Given the description of an element on the screen output the (x, y) to click on. 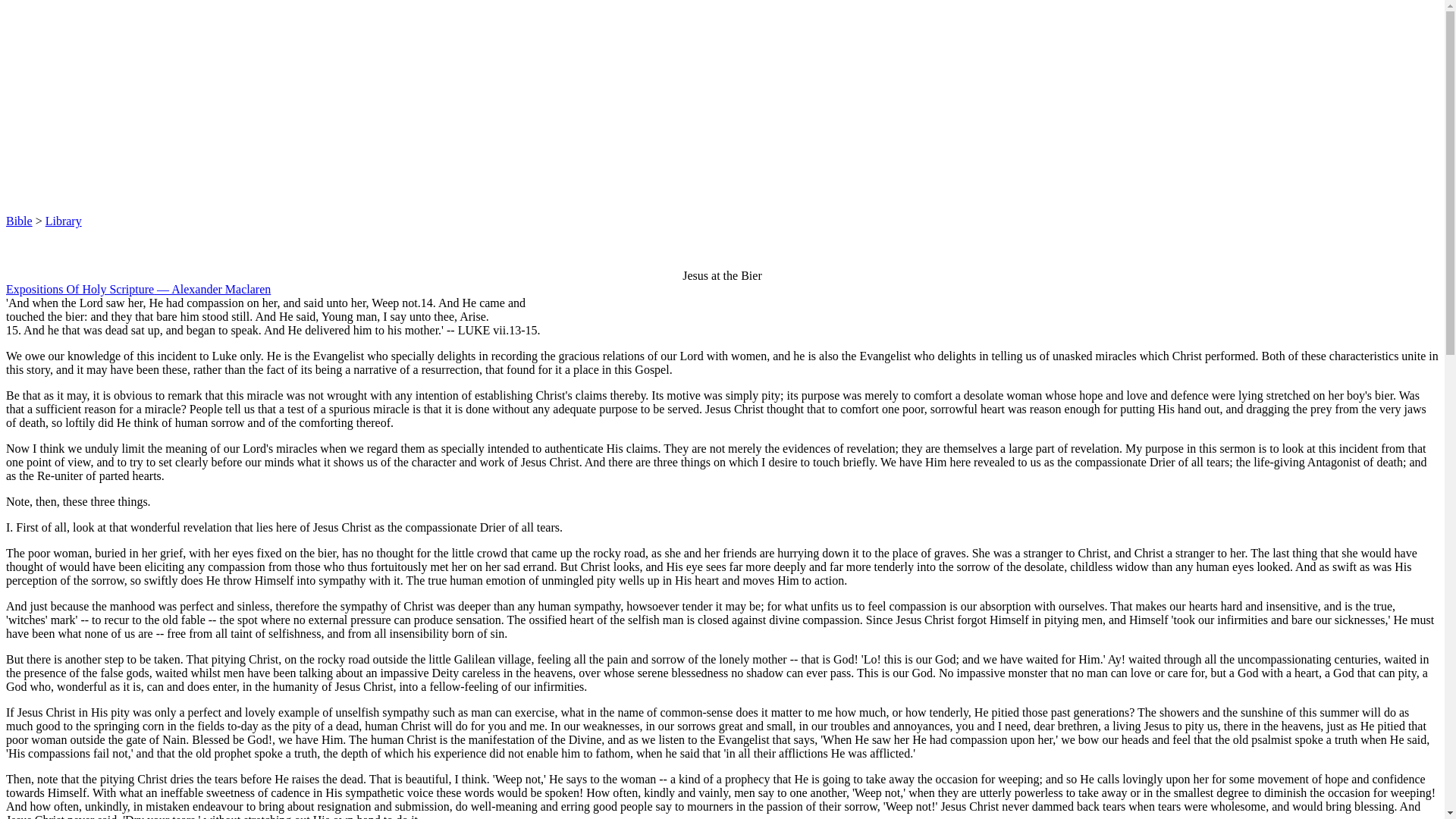
Expositions Of Holy Scripture (79, 288)
Bible (18, 220)
Library (63, 220)
